Given the description of an element on the screen output the (x, y) to click on. 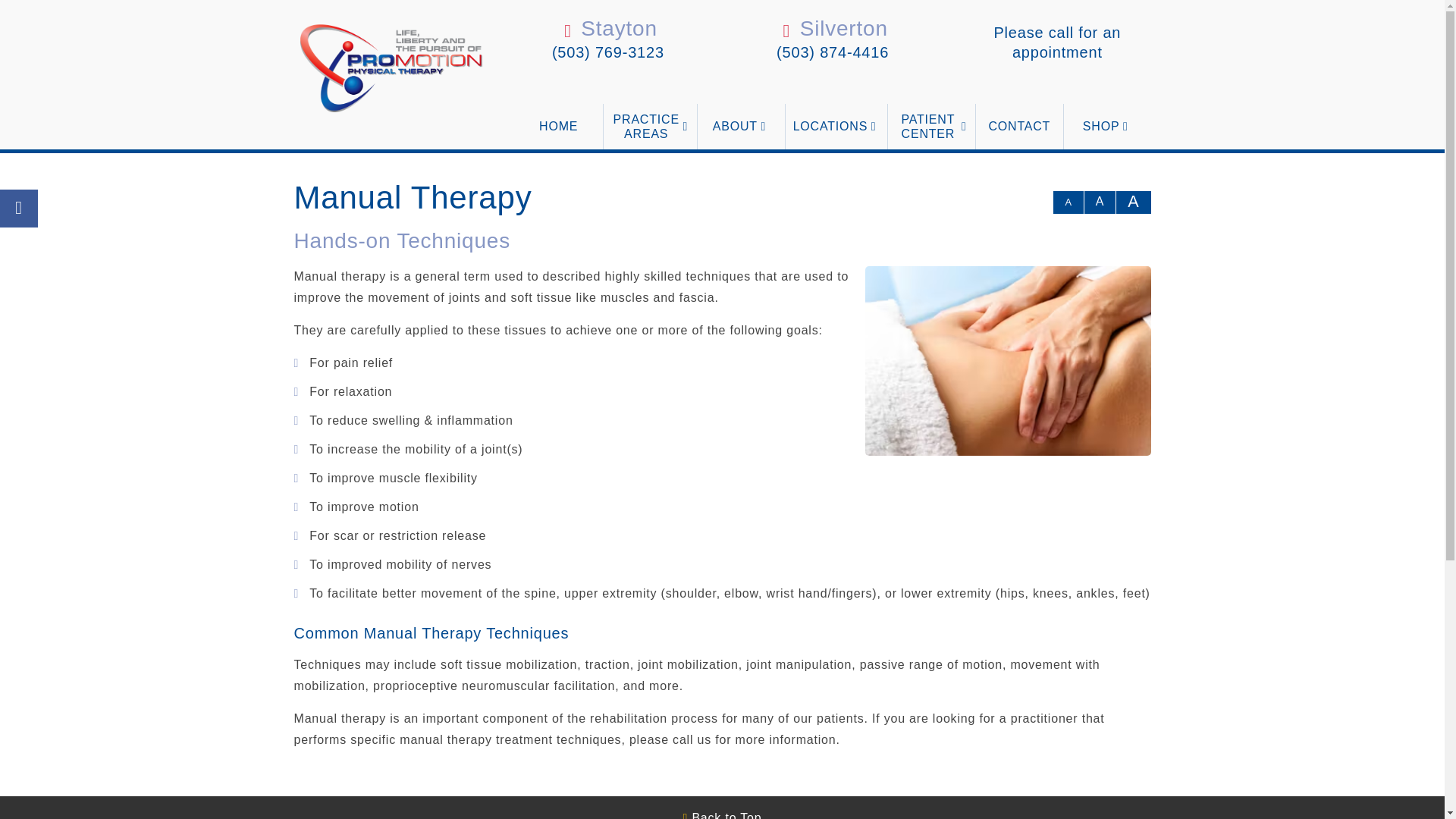
ABOUT (740, 126)
PATIENT CENTER (930, 126)
HOME (558, 126)
CONTACT (1018, 126)
LOCATIONS (835, 126)
Back to Top (722, 813)
PRACTICE AREAS (649, 126)
SHOP (1106, 126)
